Given the description of an element on the screen output the (x, y) to click on. 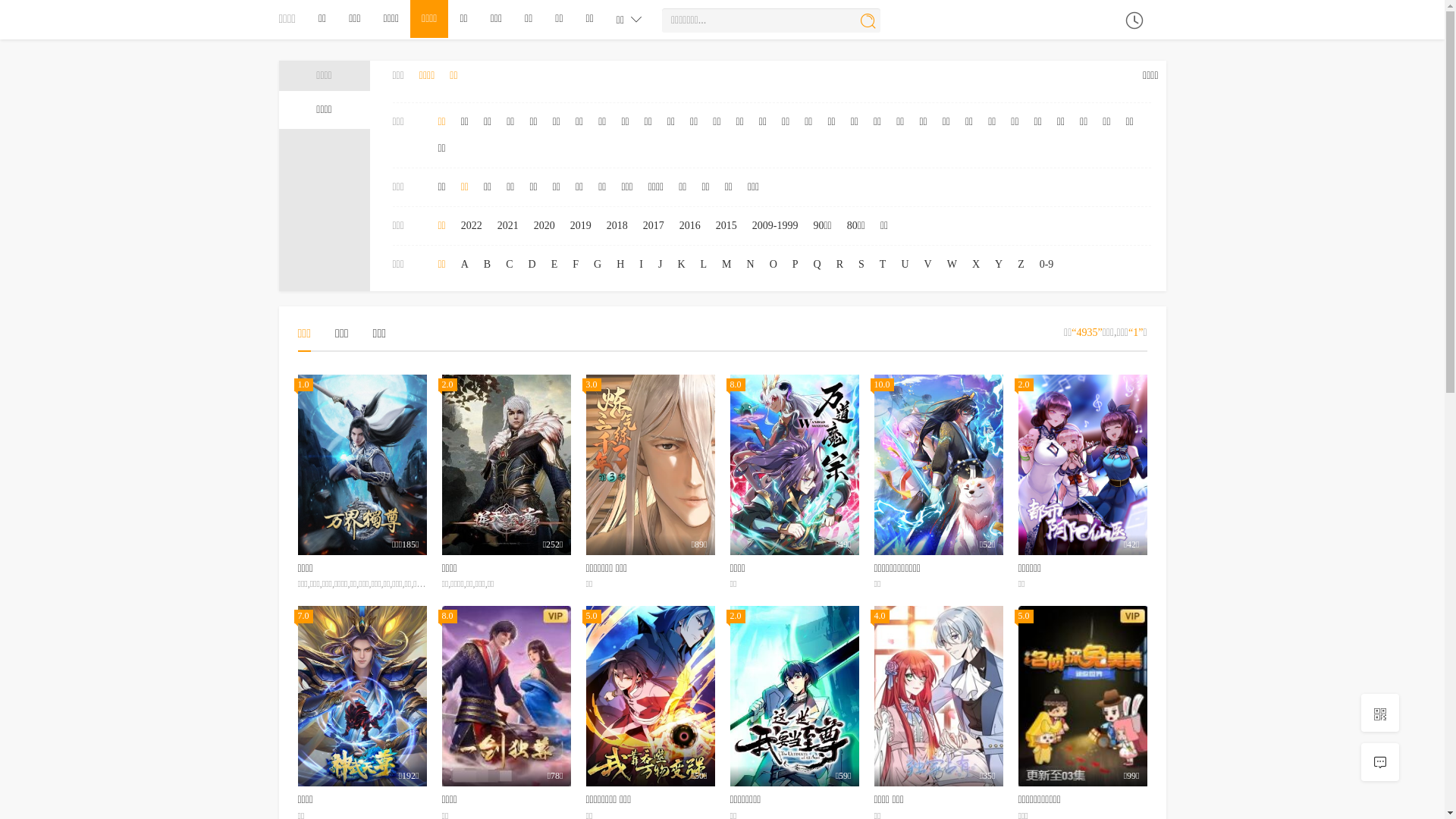
2017 Element type: text (653, 225)
G Element type: text (597, 264)
P Element type: text (795, 264)
O Element type: text (773, 264)
K Element type: text (680, 264)
2009-1999 Element type: text (775, 225)
2019 Element type: text (580, 225)
H Element type: text (620, 264)
2021 Element type: text (507, 225)
S Element type: text (861, 264)
D Element type: text (532, 264)
V Element type: text (927, 264)
I Element type: text (641, 264)
E Element type: text (554, 264)
T Element type: text (882, 264)
Y Element type: text (998, 264)
Q Element type: text (817, 264)
U Element type: text (904, 264)
R Element type: text (839, 264)
A Element type: text (464, 264)
2015 Element type: text (726, 225)
B Element type: text (486, 264)
C Element type: text (508, 264)
X Element type: text (975, 264)
2022 Element type: text (471, 225)
0-9 Element type: text (1046, 264)
2018 Element type: text (616, 225)
2016 Element type: text (689, 225)
N Element type: text (750, 264)
Z Element type: text (1020, 264)
M Element type: text (726, 264)
W Element type: text (952, 264)
L Element type: text (703, 264)
J Element type: text (660, 264)
F Element type: text (575, 264)
2020 Element type: text (544, 225)
